Given the description of an element on the screen output the (x, y) to click on. 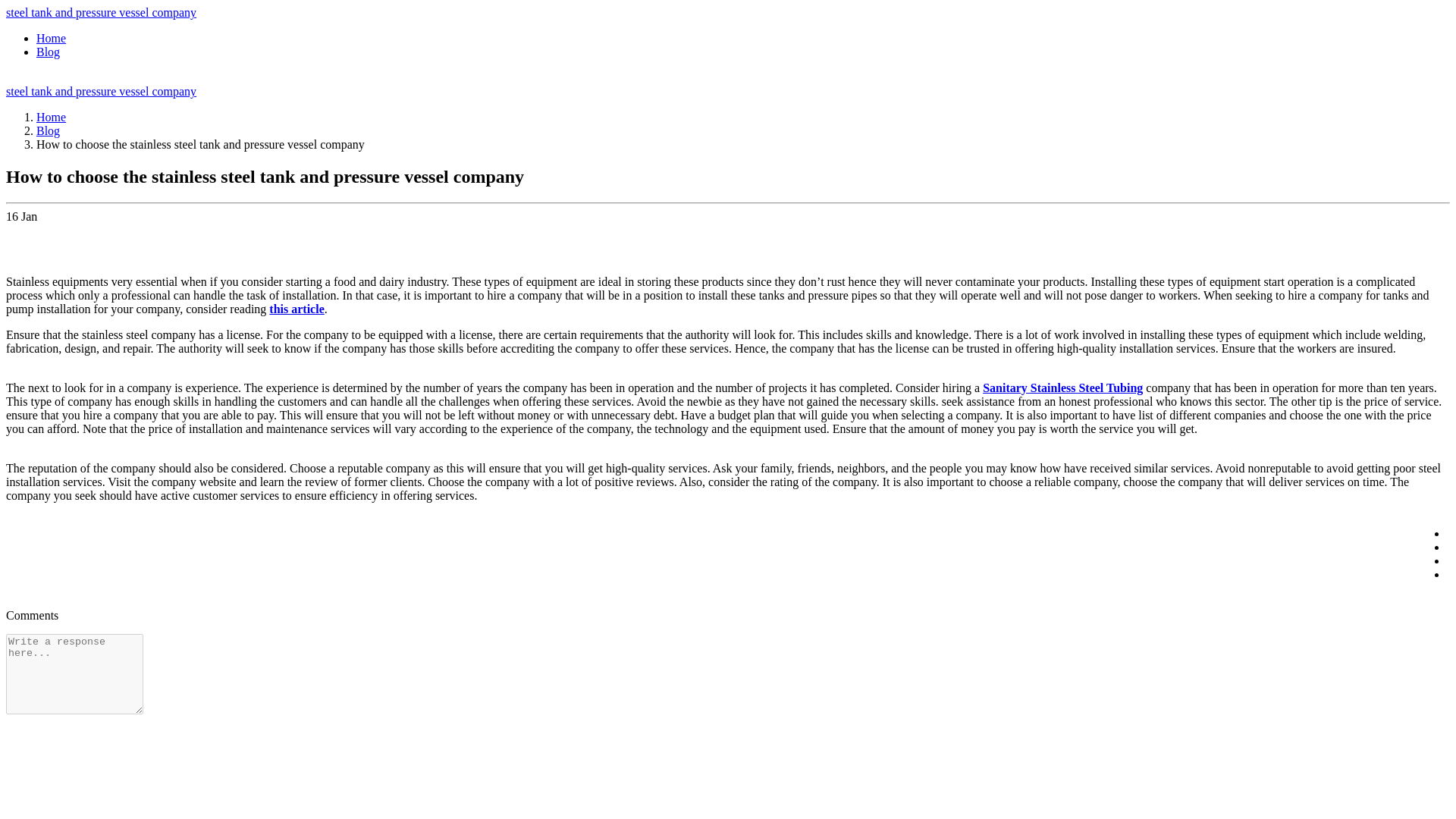
Blog (47, 130)
Blog (47, 51)
Home (50, 116)
steel tank and pressure vessel company (100, 91)
this article (296, 308)
steel tank and pressure vessel company (100, 11)
Home (50, 38)
Sanitary Stainless Steel Tubing (1062, 387)
